Given the description of an element on the screen output the (x, y) to click on. 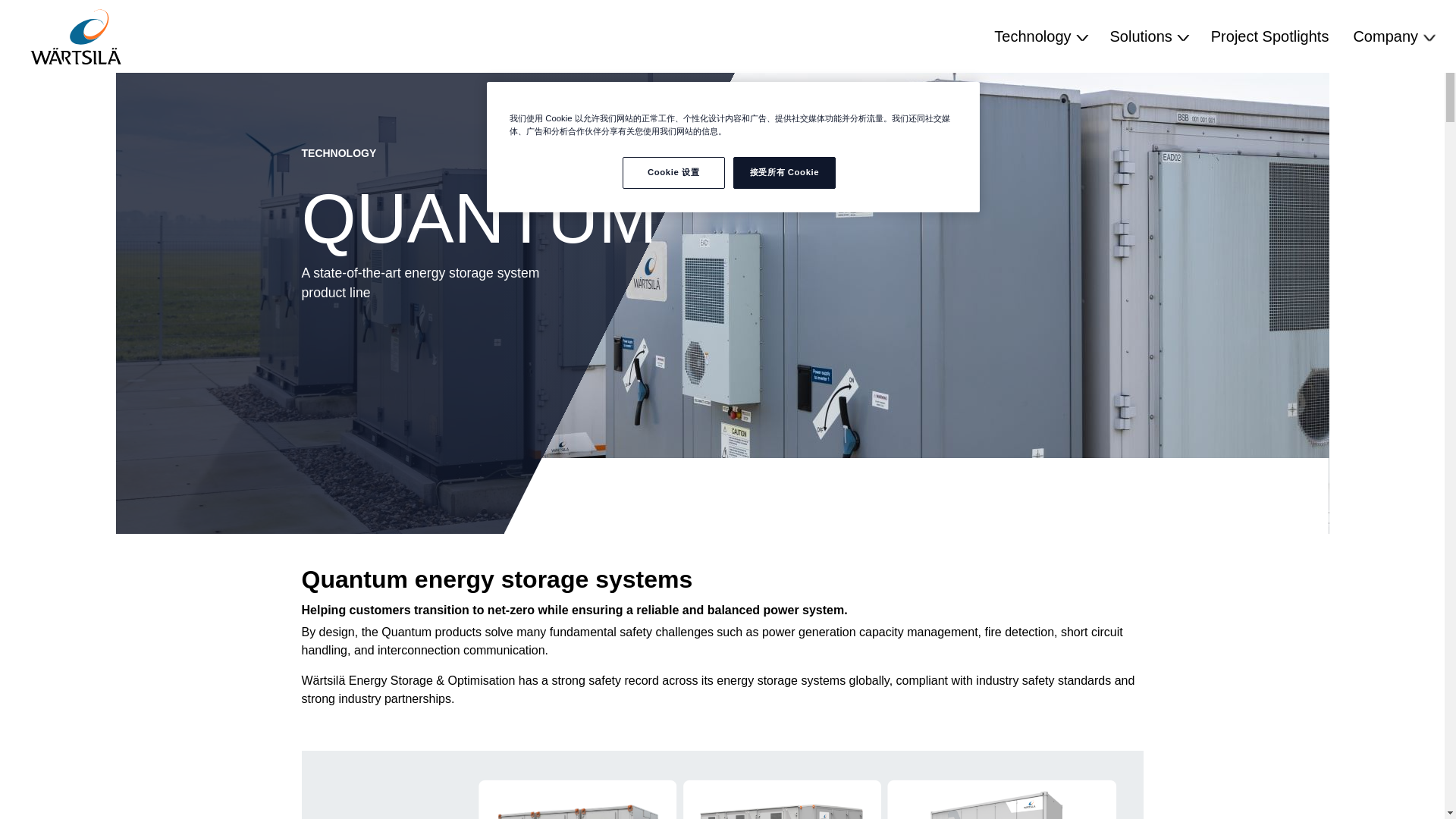
Project Spotlights (1270, 36)
Technology (1039, 36)
Solutions (1147, 36)
Company (1392, 36)
